Given the description of an element on the screen output the (x, y) to click on. 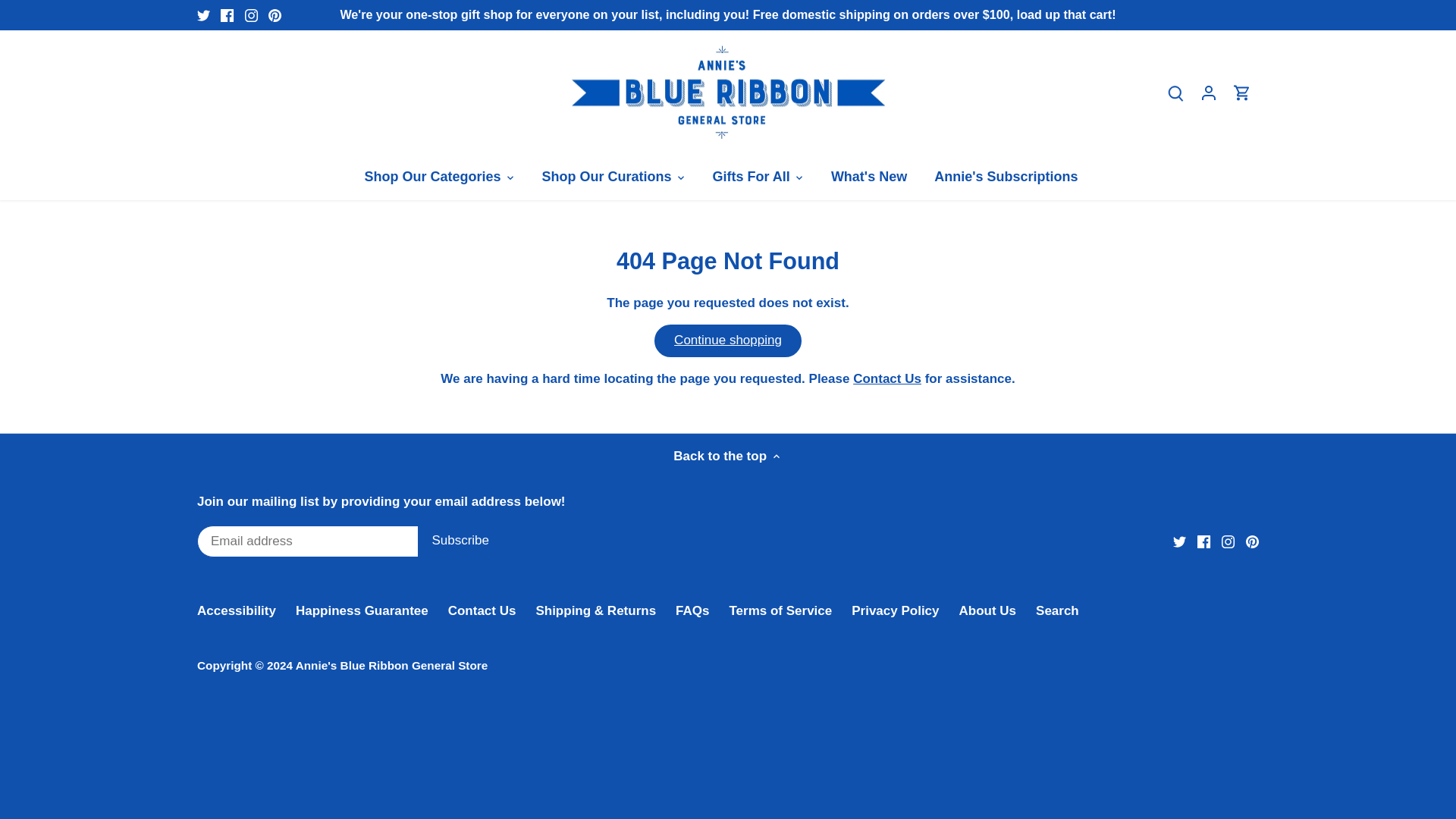
Twitter (202, 15)
Instagram (250, 15)
Twitter (202, 14)
Instagram (1227, 541)
Go to cart (1241, 92)
Facebook (226, 14)
Facebook (1202, 541)
Instagram (250, 14)
Shop Our Categories (438, 176)
Pinterest (274, 14)
Pinterest (274, 15)
Pinterest (1252, 541)
Twitter (1179, 541)
Facebook (226, 15)
Subscribe (459, 541)
